Given the description of an element on the screen output the (x, y) to click on. 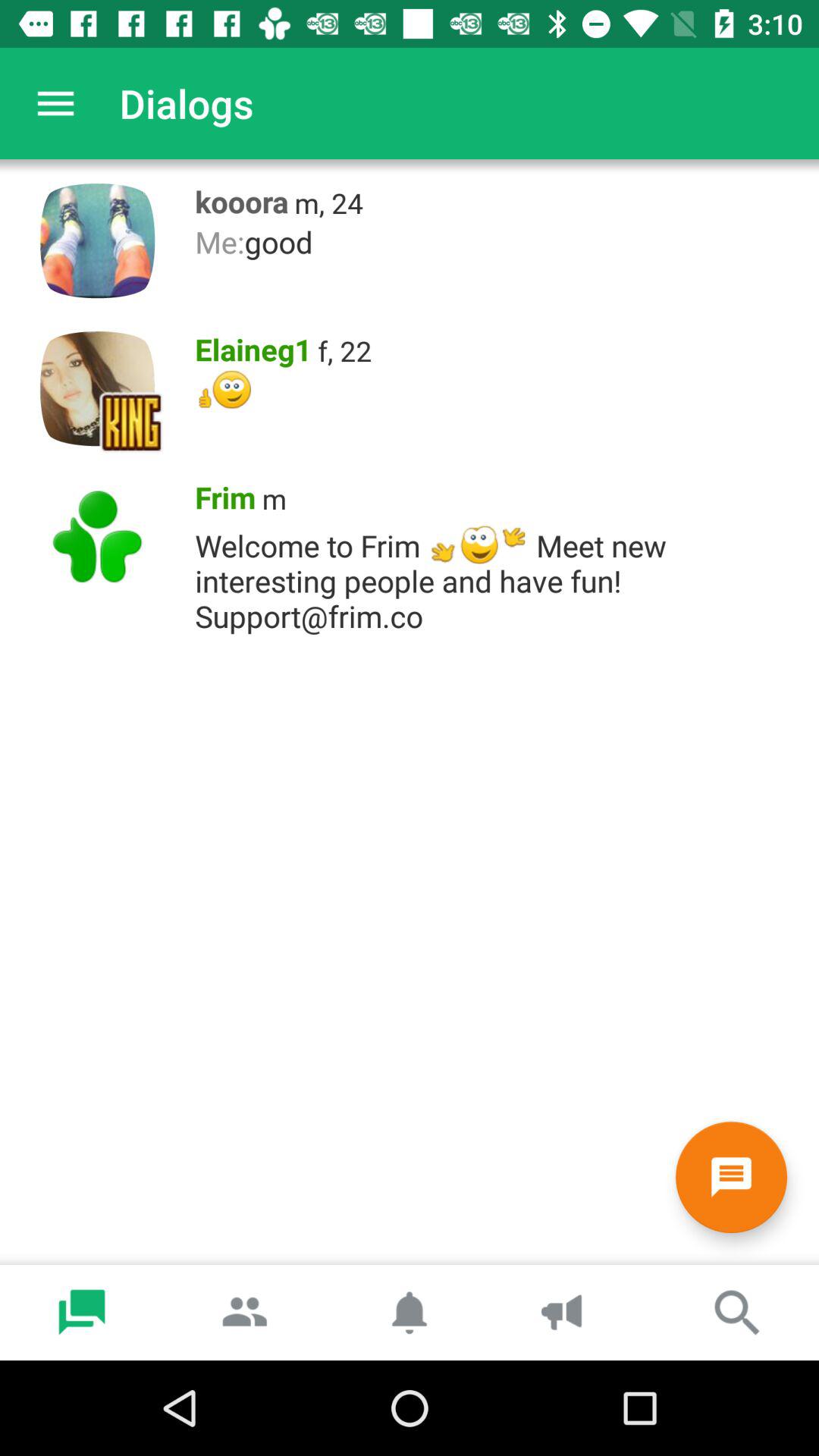
turn on item next to the f, 22 item (248, 346)
